Given the description of an element on the screen output the (x, y) to click on. 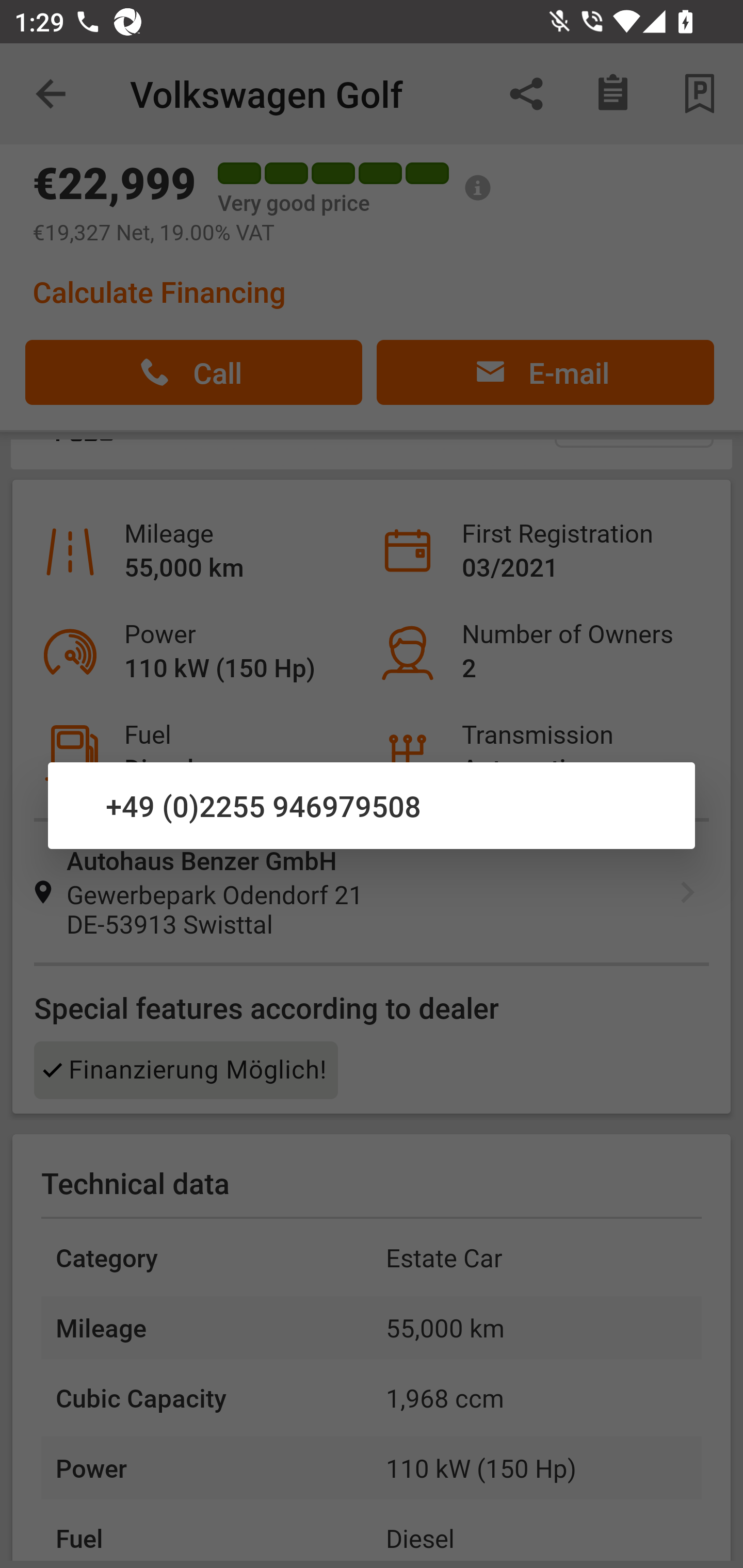
+49 (0)2255 946979508 (371, 805)
